Given the description of an element on the screen output the (x, y) to click on. 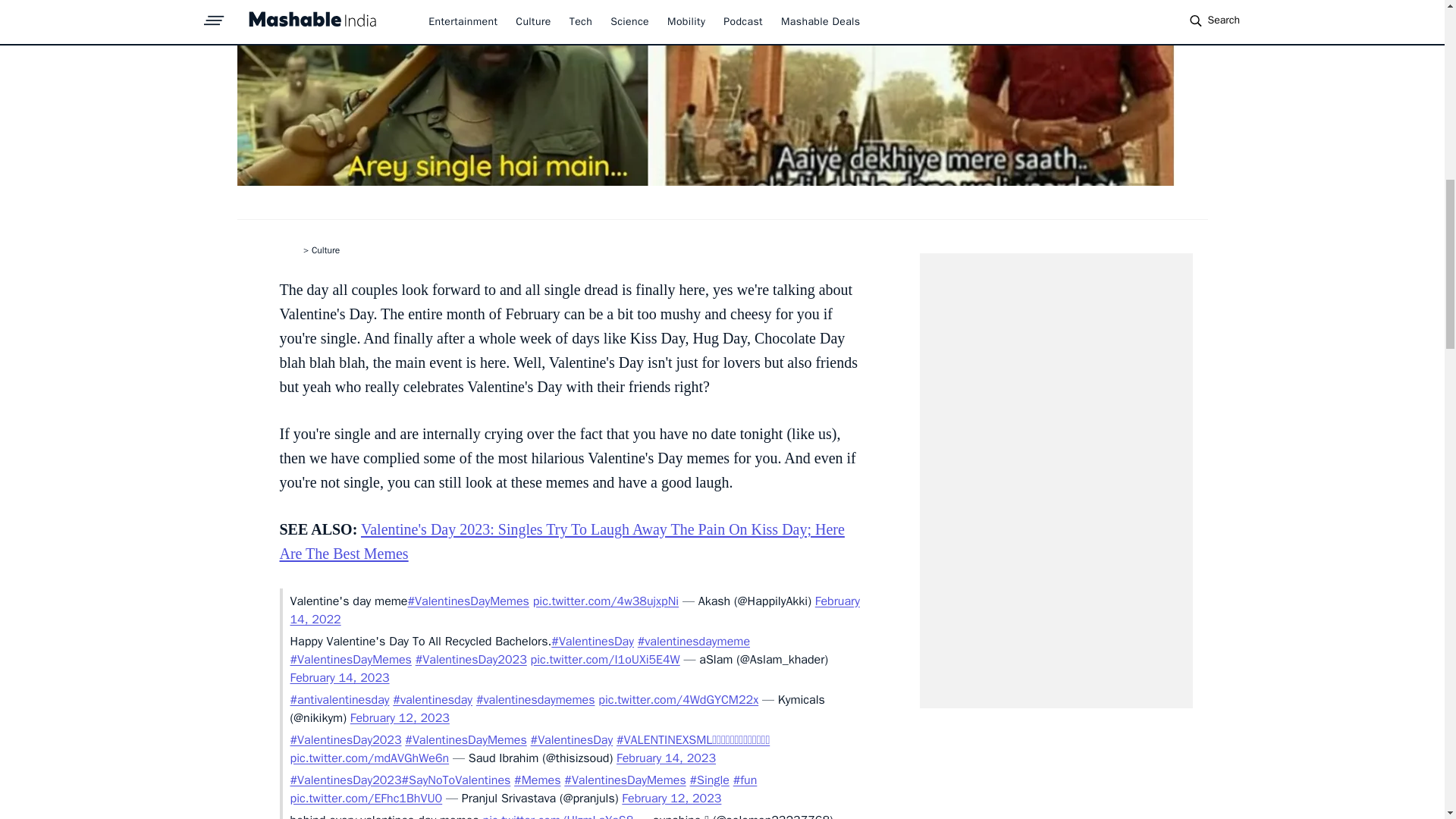
February 14, 2022 (574, 610)
February 12, 2023 (399, 717)
February 14, 2023 (338, 677)
